Given the description of an element on the screen output the (x, y) to click on. 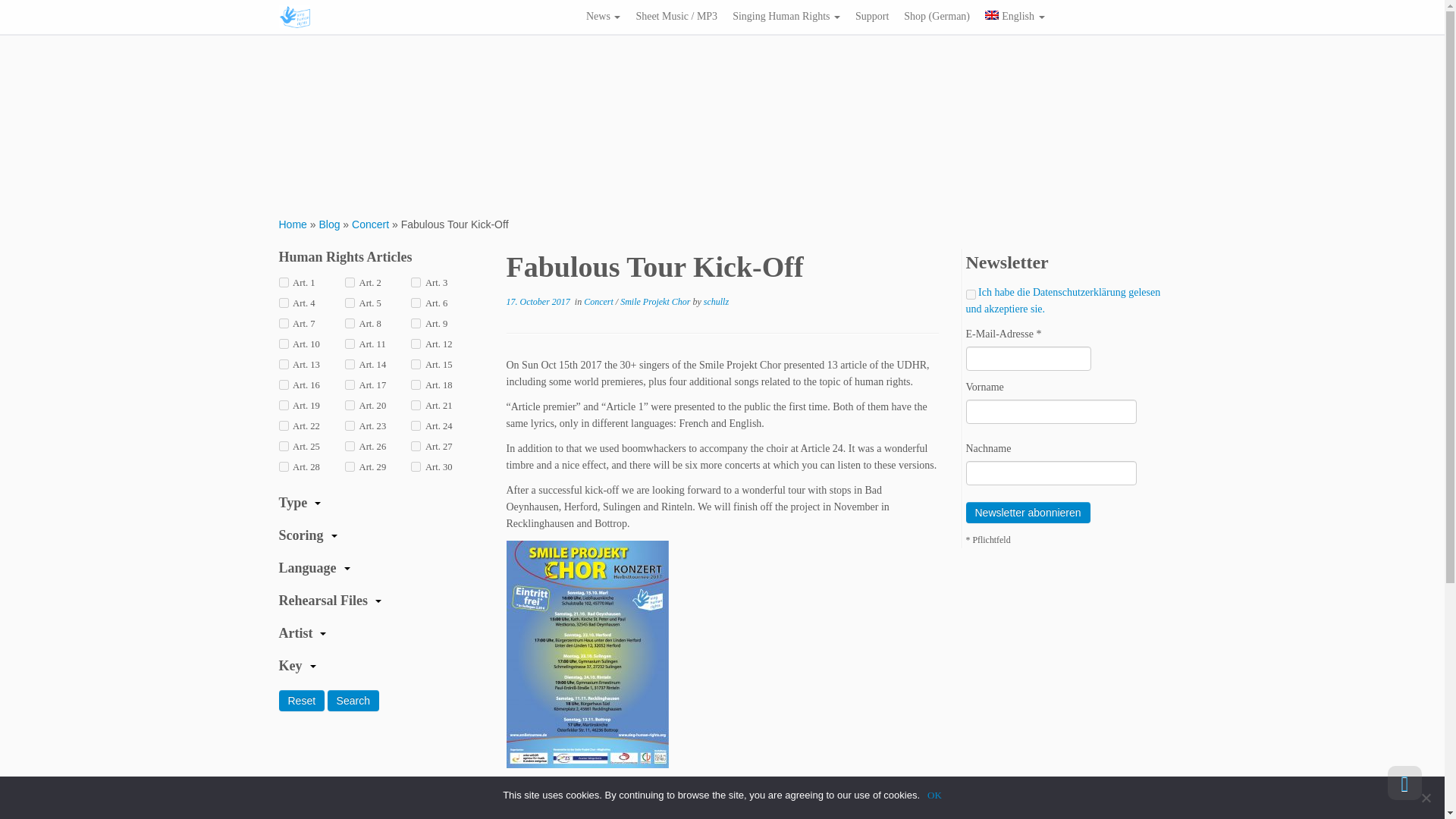
Concert (370, 224)
10:17 (538, 301)
Singing Human Rights (786, 16)
Newsletter abonnieren (1028, 512)
70 (283, 405)
61 (283, 343)
News (602, 16)
71 (350, 405)
63 (415, 343)
Concert (370, 224)
54 (415, 282)
66 (415, 364)
View all posts in Smile Projekt Chor (656, 301)
17. October 2017 (538, 301)
64 (283, 364)
